Given the description of an element on the screen output the (x, y) to click on. 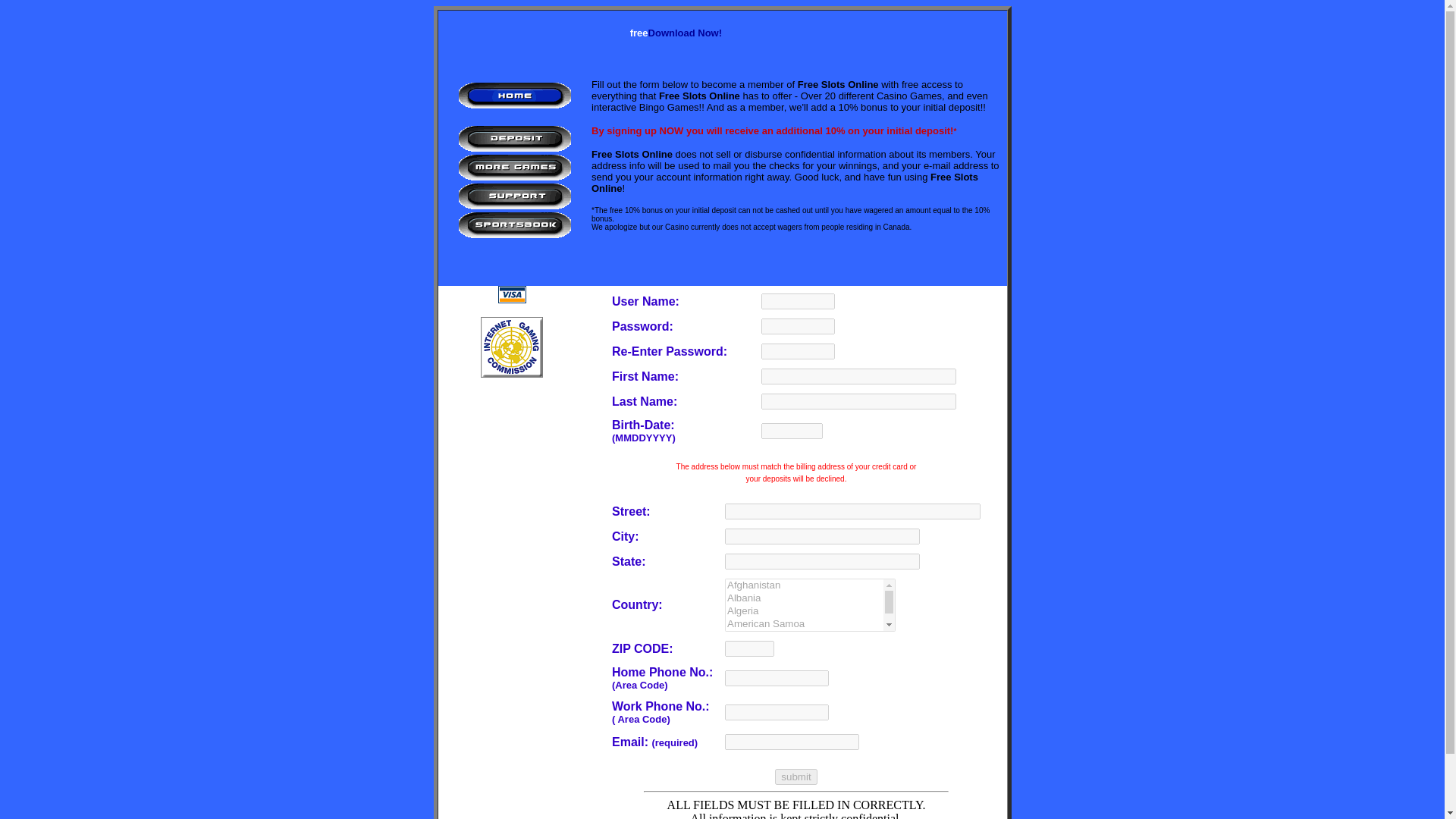
submit (795, 776)
submit (795, 776)
